Given the description of an element on the screen output the (x, y) to click on. 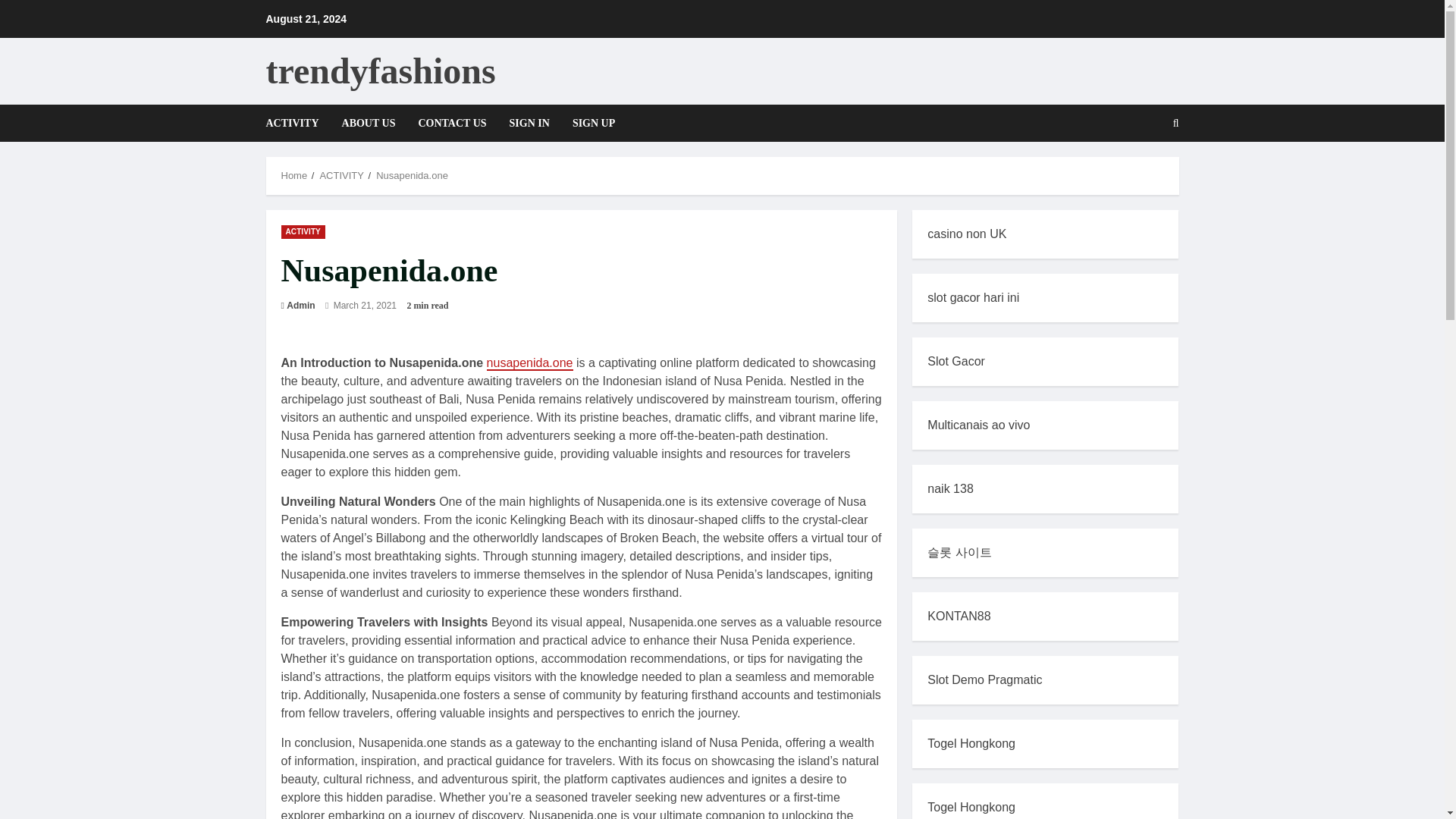
Home (294, 174)
slot gacor hari ini (973, 297)
ABOUT US (368, 122)
Search (1139, 174)
Admin (300, 305)
Multicanais ao vivo (978, 424)
Slot Gacor (956, 360)
SIGN UP (587, 122)
Togel Hongkong (970, 743)
Togel Hongkong (970, 807)
